Given the description of an element on the screen output the (x, y) to click on. 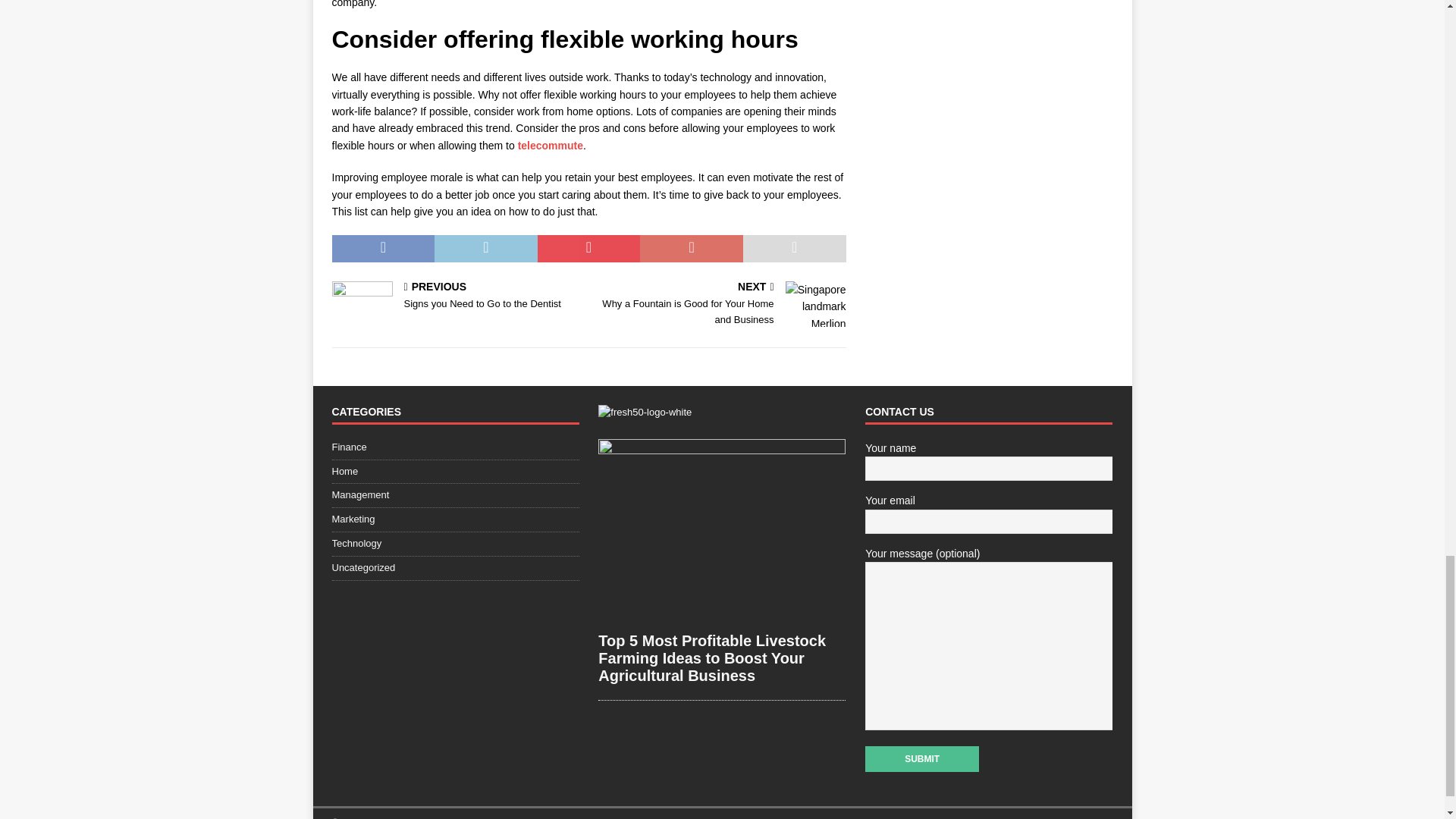
telecommute (550, 145)
Finance (457, 296)
Submit (455, 449)
The Balance Careers (720, 304)
